Given the description of an element on the screen output the (x, y) to click on. 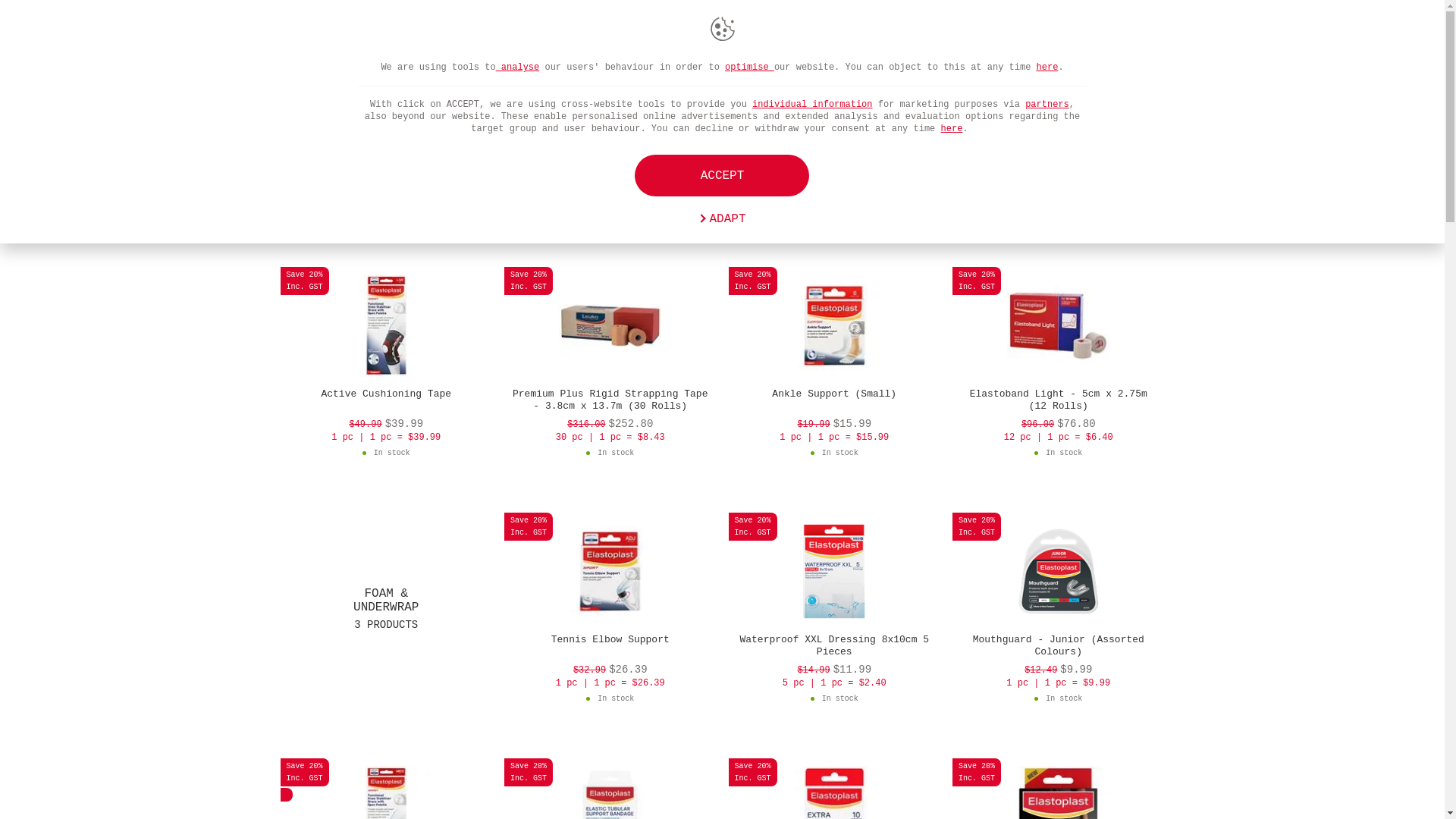
here Element type: text (1047, 67)
here Element type: text (952, 128)
ACCEPT Element type: text (721, 175)
optimise  Element type: text (749, 67)
ELASTOPLAST CONSUMER Element type: text (875, 32)
Action Element type: hover (1140, 31)
Go To Cart Element type: hover (1003, 31)
ADAPT Element type: text (721, 218)
 analyse Element type: text (517, 67)
Search Element type: hover (1049, 31)
FOAM & UNDERWRAP
3 PRODUCTS Element type: text (386, 608)
PRODUCTS Element type: text (444, 32)
Your Elastoplast Account Element type: hover (1094, 31)
home icon Element type: hover (287, 66)
individual information Element type: text (812, 104)
logo Element type: hover (331, 32)
ABOUT US Element type: text (727, 32)
EDUCATION & TRAINING Element type: text (587, 32)
partners Element type: text (1047, 104)
